Given the description of an element on the screen output the (x, y) to click on. 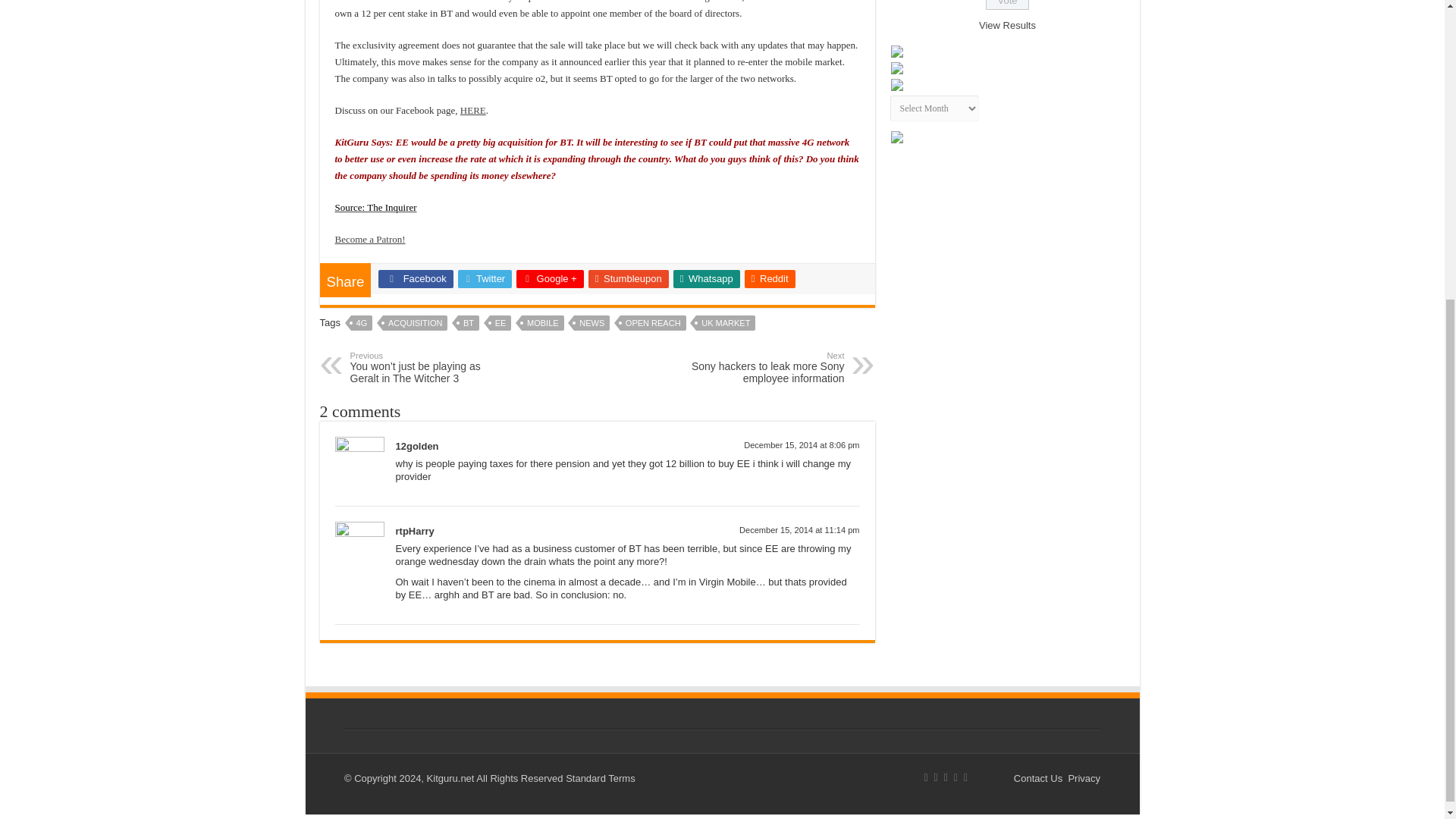
Source: The Inquirer (375, 206)
View Results Of This Poll (1006, 25)
Whatsapp (705, 279)
Become a Patron! (370, 238)
Reddit (769, 279)
Facebook (415, 279)
4G (361, 322)
Twitter (485, 279)
Stumbleupon (628, 279)
   Vote    (1007, 4)
